Given the description of an element on the screen output the (x, y) to click on. 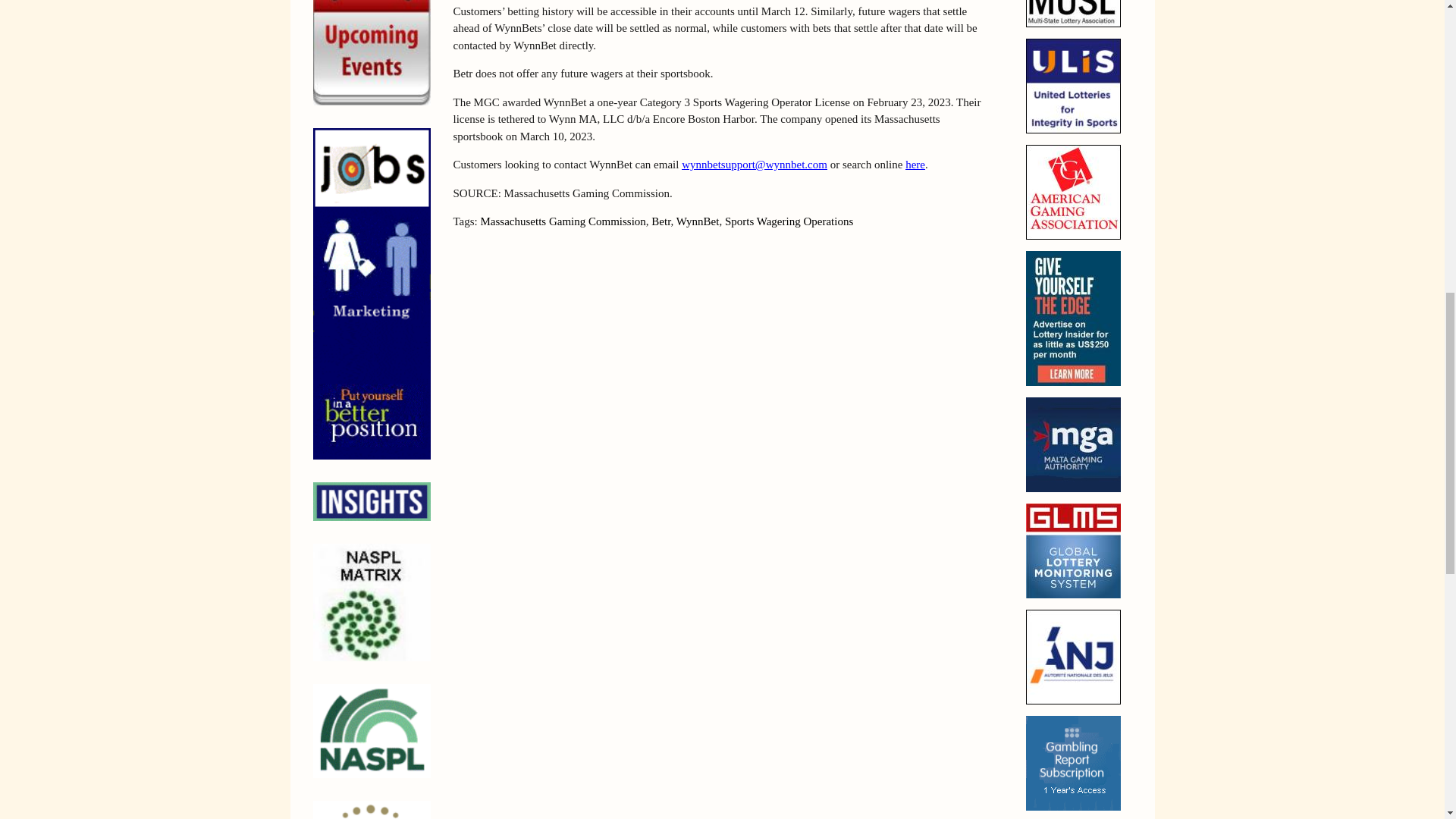
WynnBet (698, 221)
here (914, 164)
Sports Wagering Operations (789, 221)
Betr (659, 221)
Massachusetts Gaming Commission (563, 221)
